Given the description of an element on the screen output the (x, y) to click on. 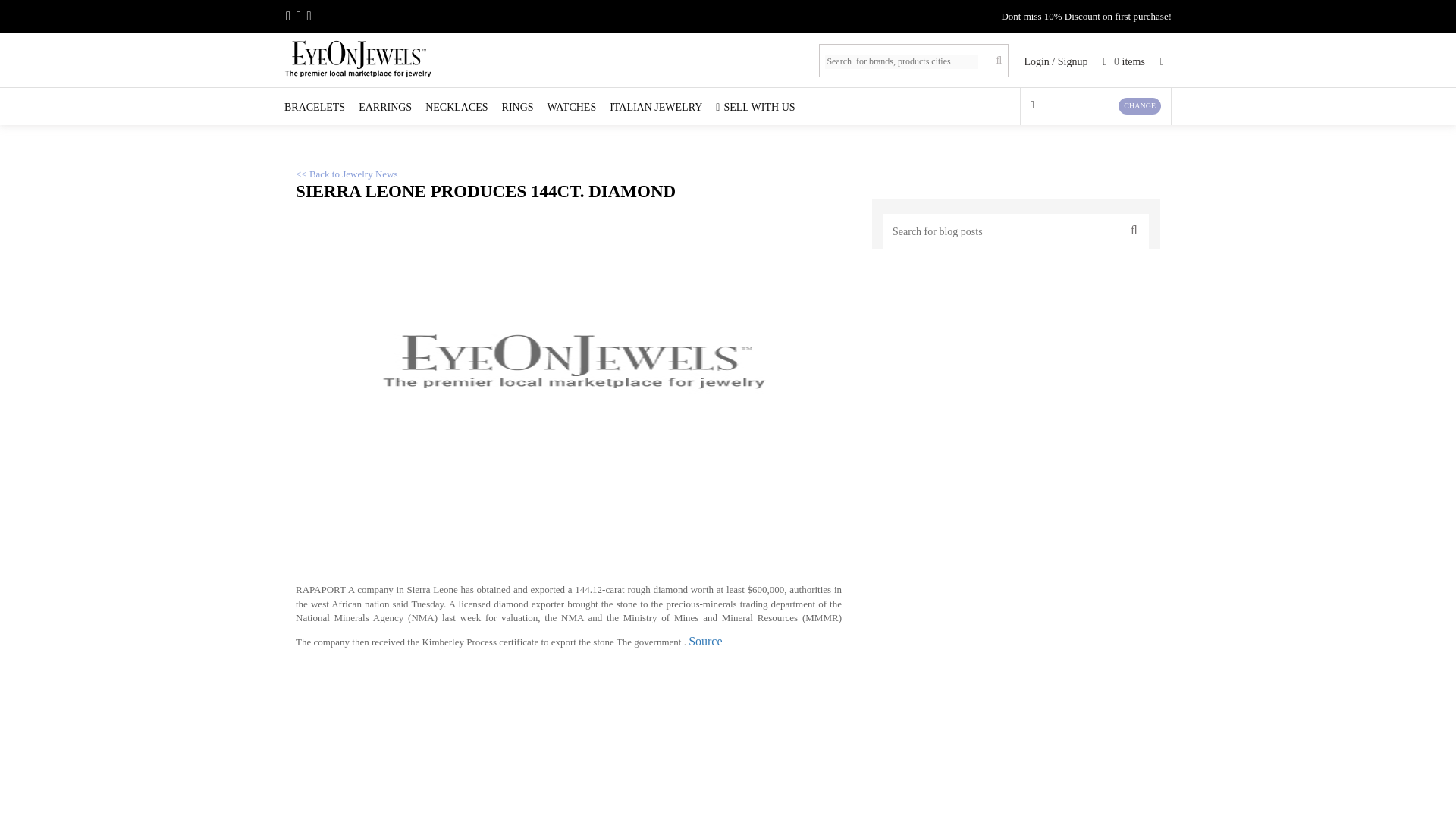
Signup (1072, 61)
RINGS (518, 107)
ITALIAN JEWELRY (655, 107)
SELL WITH US (755, 107)
NECKLACES (456, 107)
CHANGE (1139, 105)
EARRINGS (385, 107)
0 items (1123, 61)
WATCHES (571, 107)
CHANGE (1095, 105)
BRACELETS (314, 107)
Type your city (1139, 105)
